Given the description of an element on the screen output the (x, y) to click on. 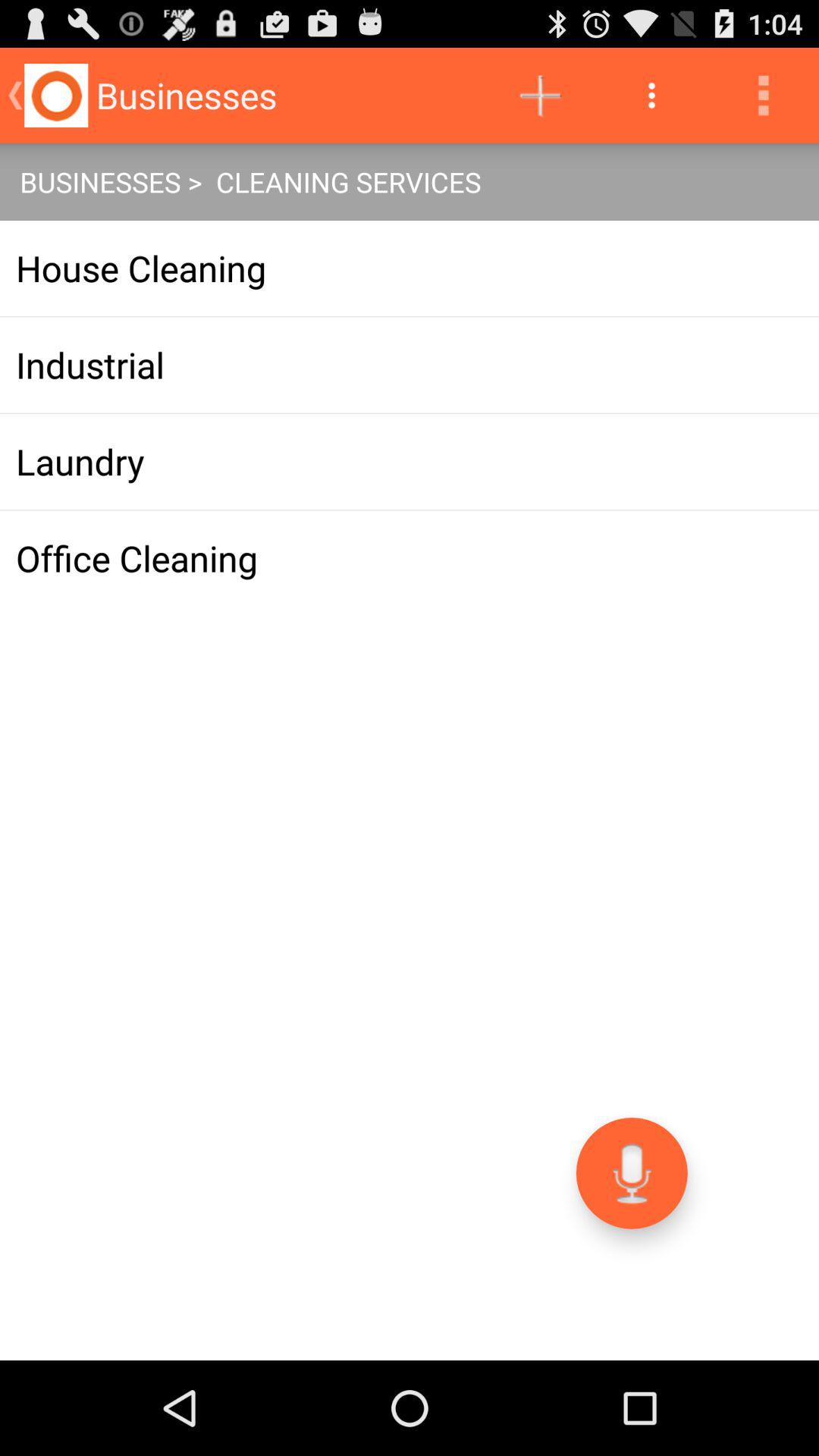
press the icon above the businesses >  cleaning services app (763, 95)
